Given the description of an element on the screen output the (x, y) to click on. 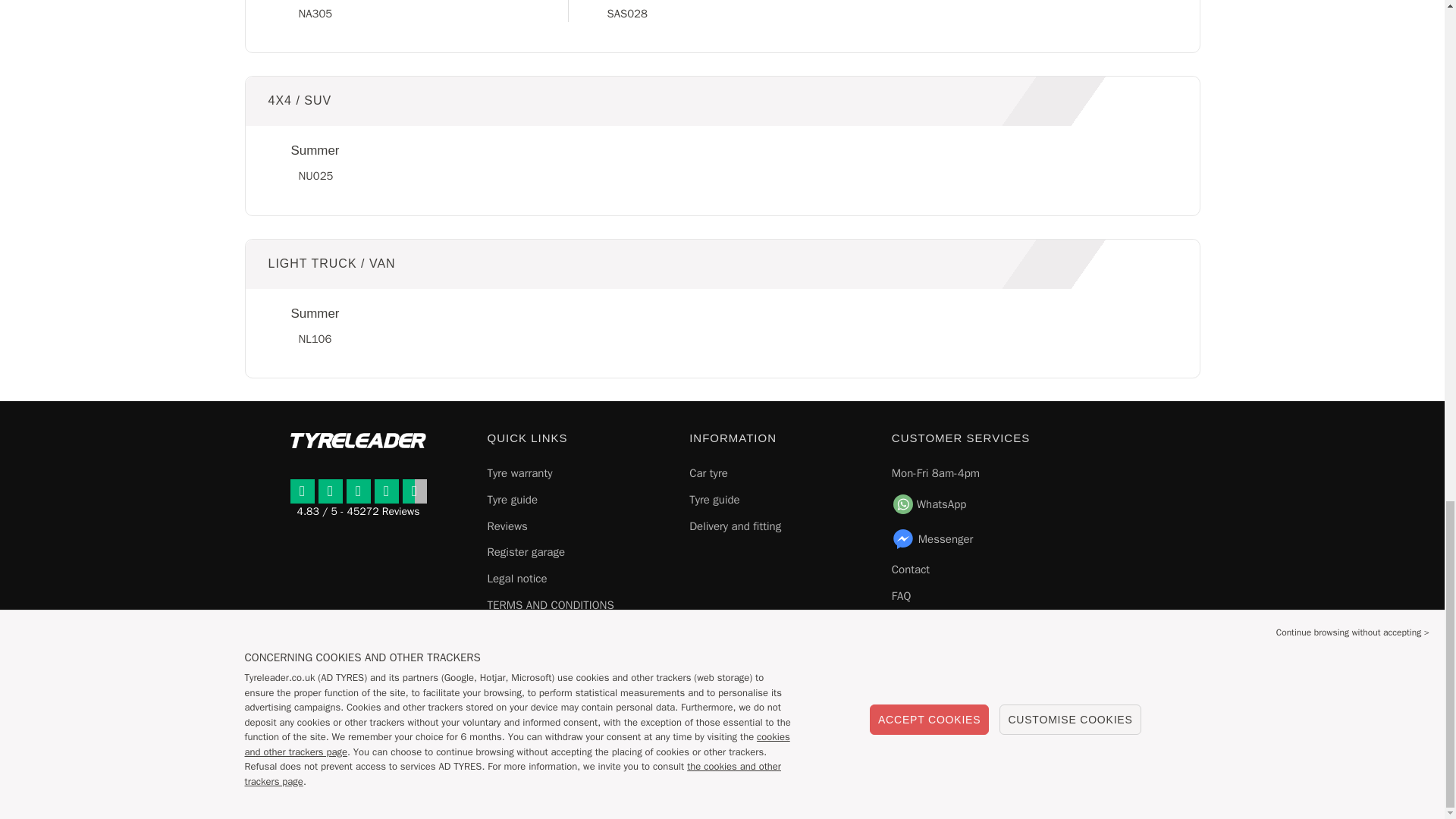
SAS028 (626, 13)
See all reviews (357, 503)
NL106 (314, 338)
NA305 (315, 13)
NU025 (315, 175)
